Given the description of an element on the screen output the (x, y) to click on. 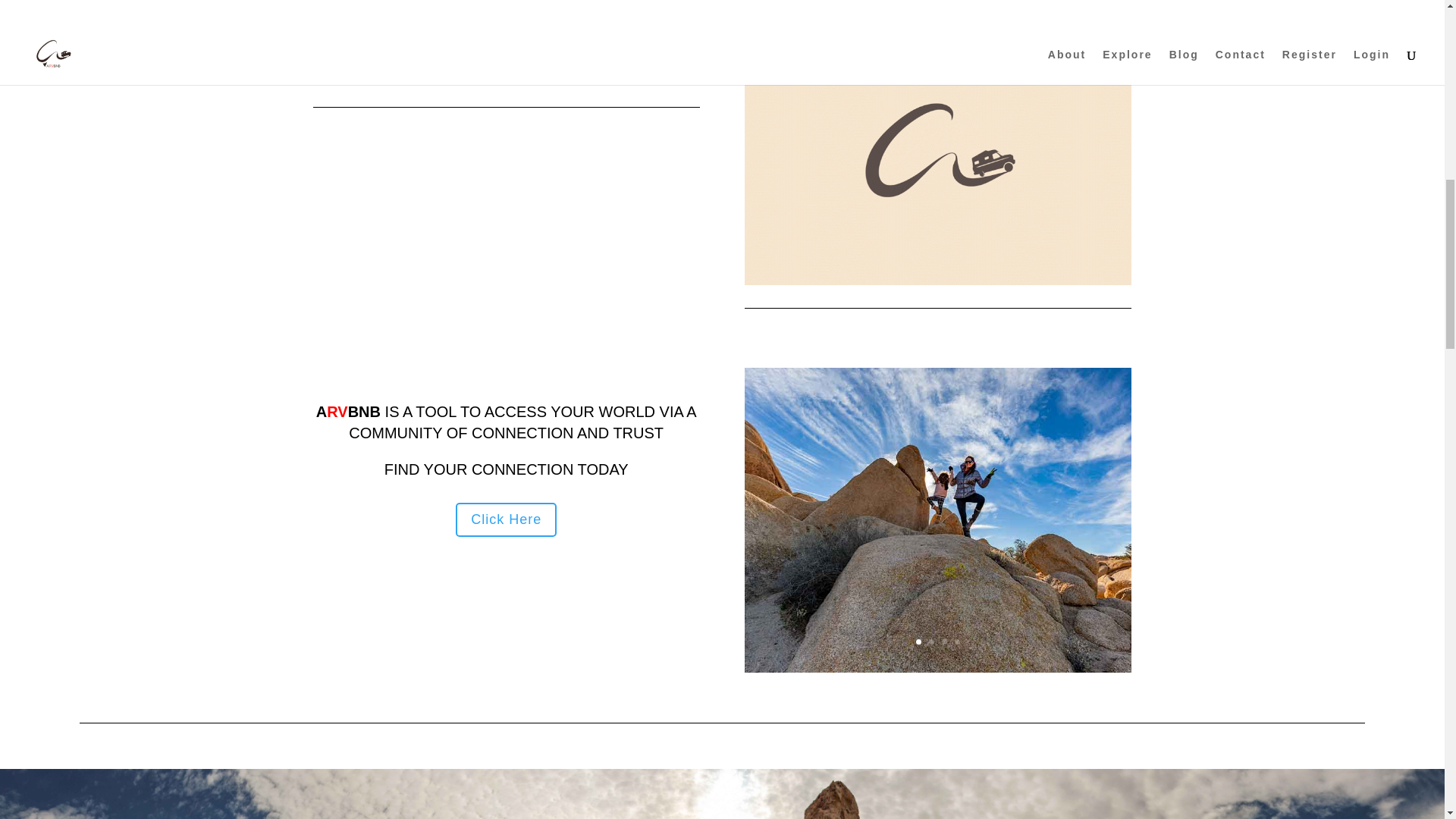
Click Here (505, 519)
